Given the description of an element on the screen output the (x, y) to click on. 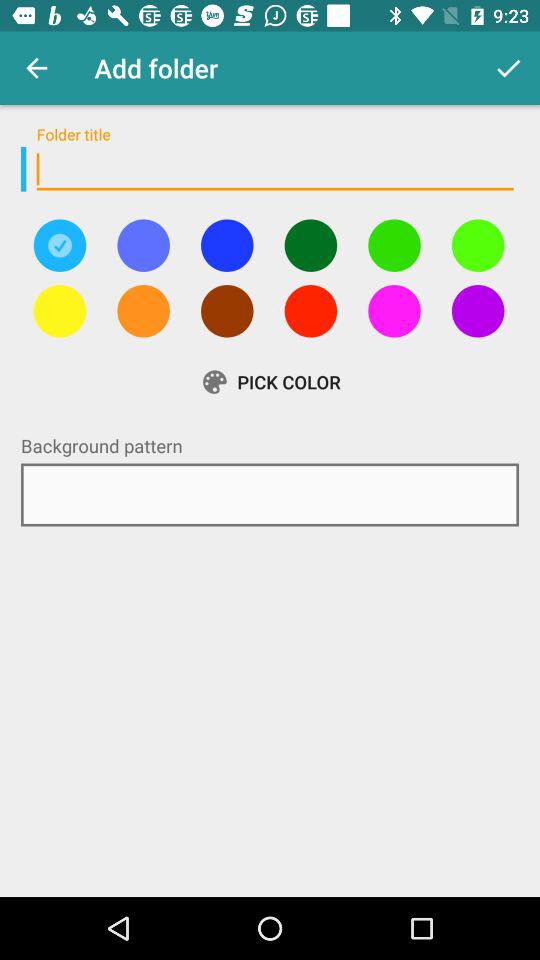
go back button option (143, 245)
